Given the description of an element on the screen output the (x, y) to click on. 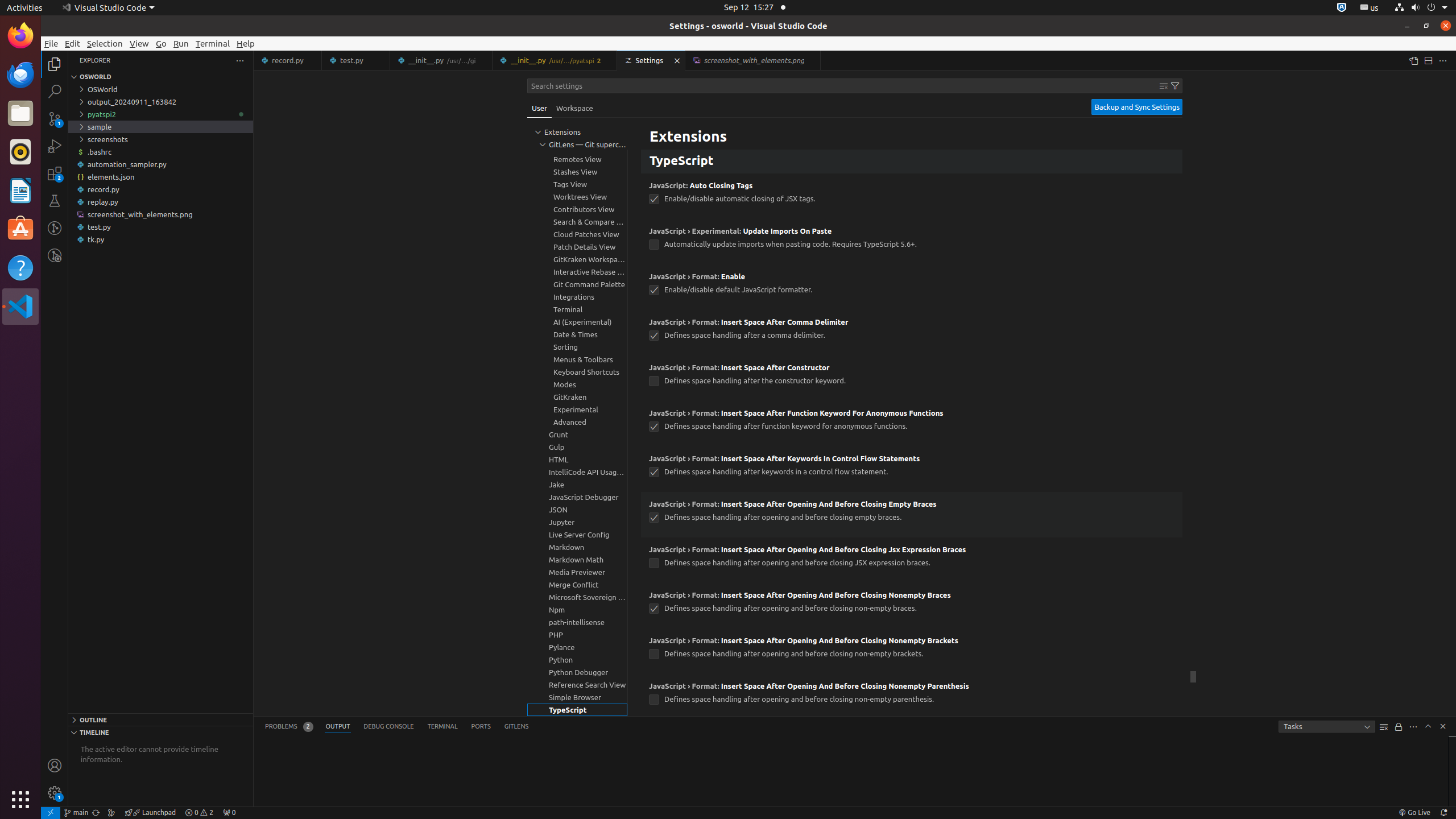
tk.py Element type: tree-item (160, 239)
Remotes View, group Element type: tree-item (577, 158)
path-intellisense, group Element type: tree-item (577, 621)
Show the GitLens Commit Graph Element type: push-button (111, 812)
